Given the description of an element on the screen output the (x, y) to click on. 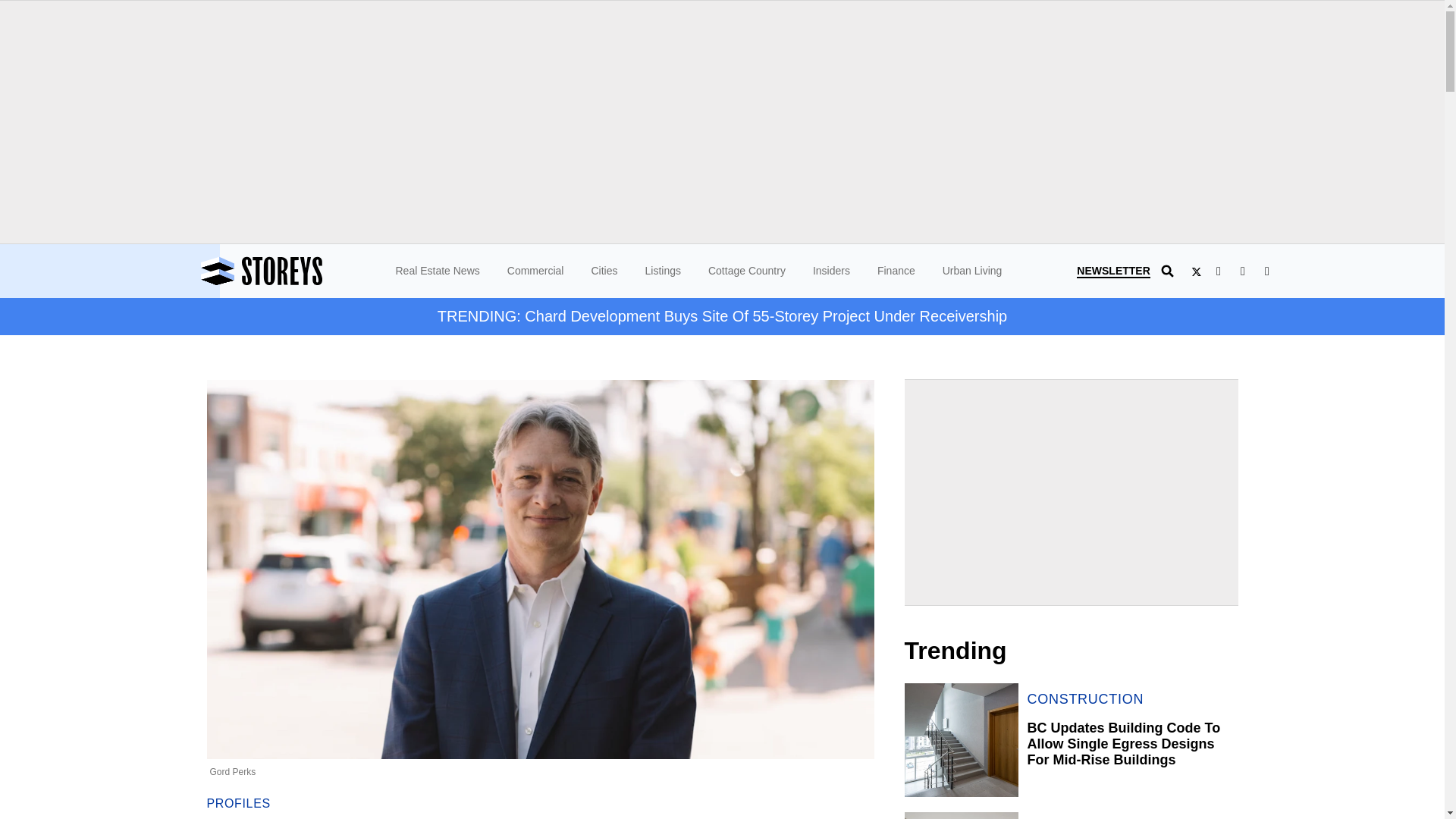
Listings (662, 270)
Real Estate News (437, 270)
Commercial (535, 270)
Storeys - Real Estate News in Canada (302, 270)
Cottage Country (746, 270)
Cities (603, 270)
